Given the description of an element on the screen output the (x, y) to click on. 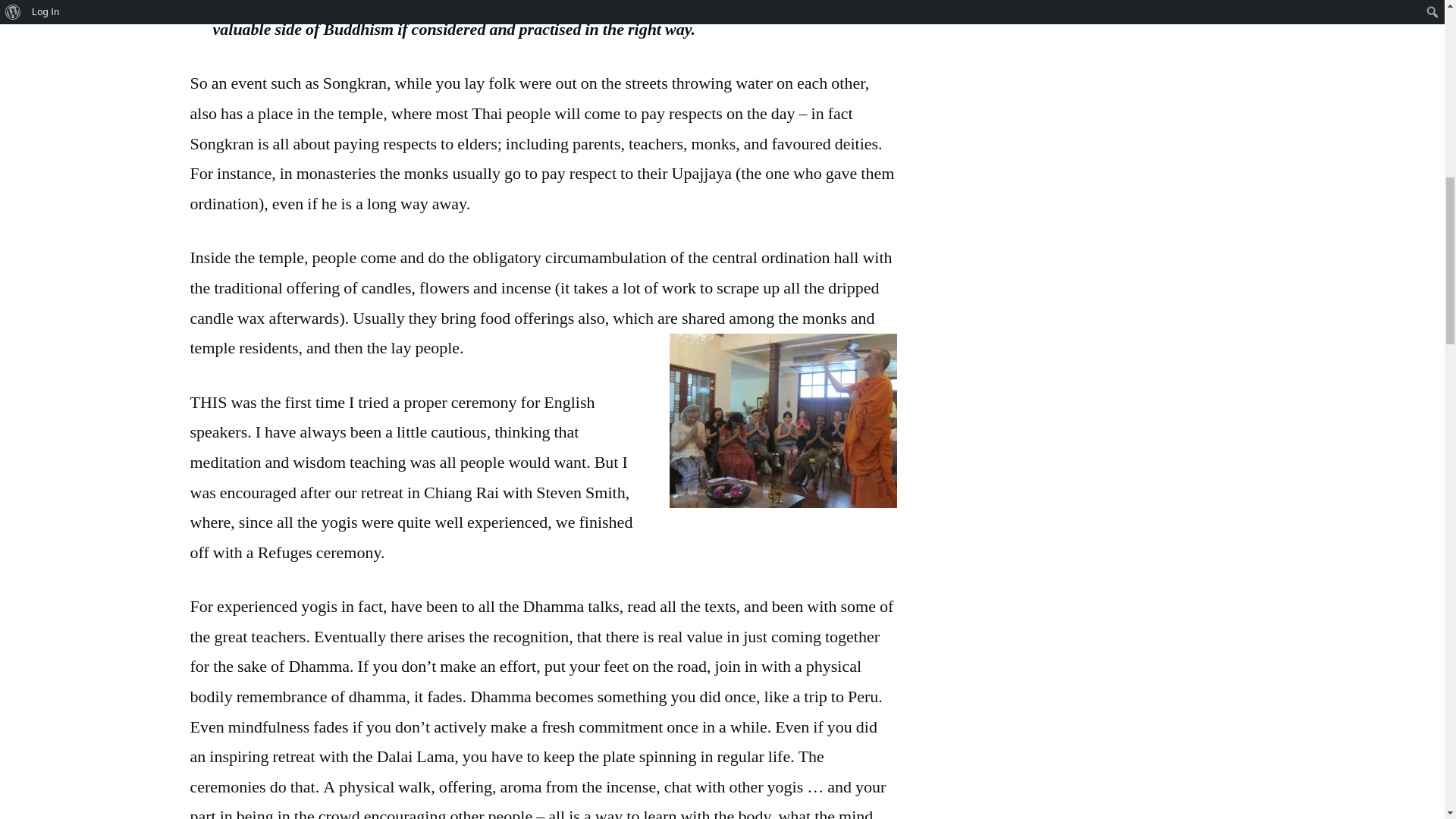
songkran Bangkok meditation group (782, 420)
